Given the description of an element on the screen output the (x, y) to click on. 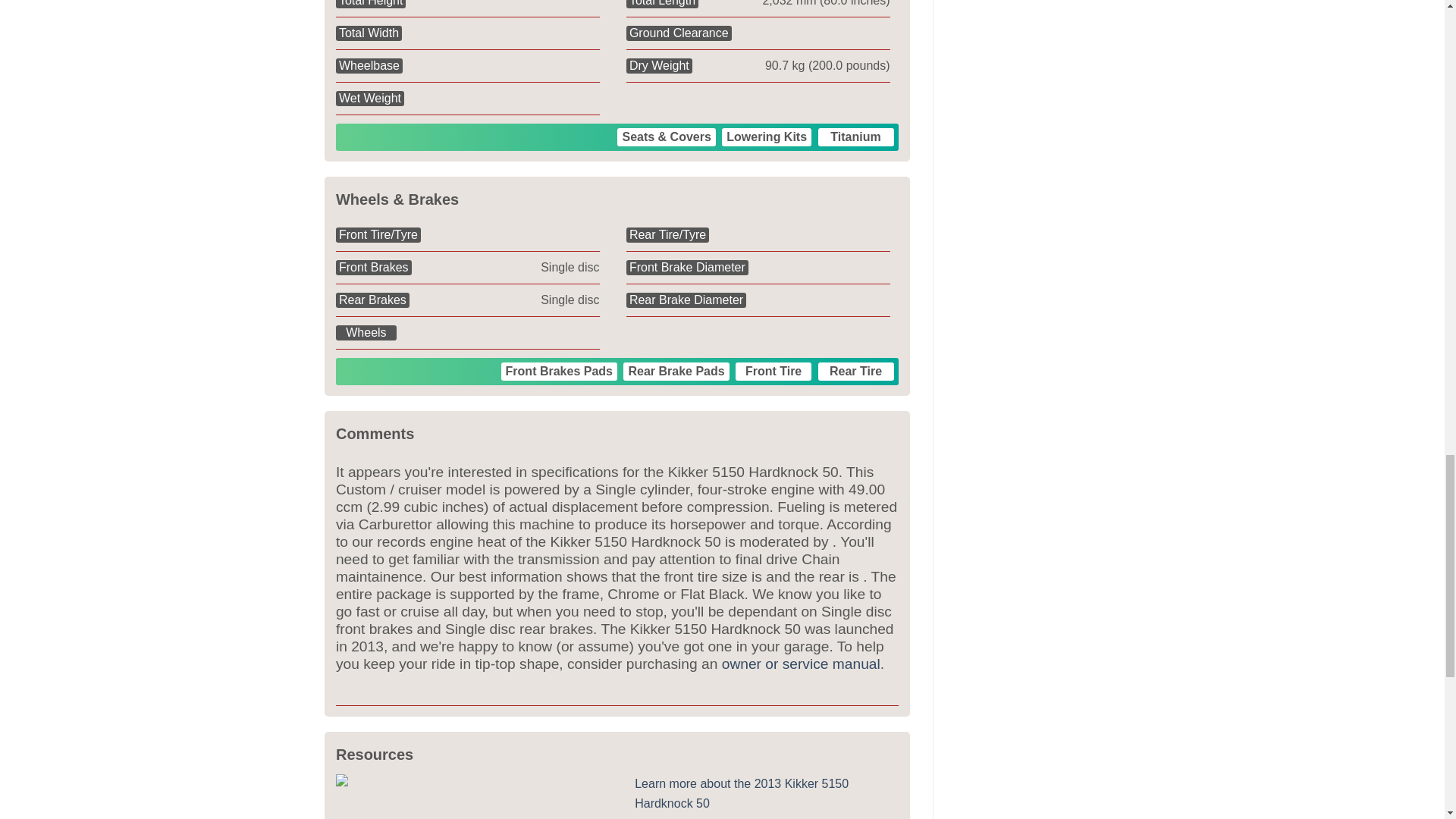
owner or service manual (801, 663)
Lowering Kits (766, 136)
Front Tire (772, 371)
Front Brakes Pads (558, 371)
Rear Brake Pads (676, 371)
Learn more about the 2013 Kikker 5150 (741, 793)
Rear Tire (855, 371)
Learn more about the 2013 Kikker 5150 Hardknock 50 (741, 793)
Titanium (855, 136)
